Given the description of an element on the screen output the (x, y) to click on. 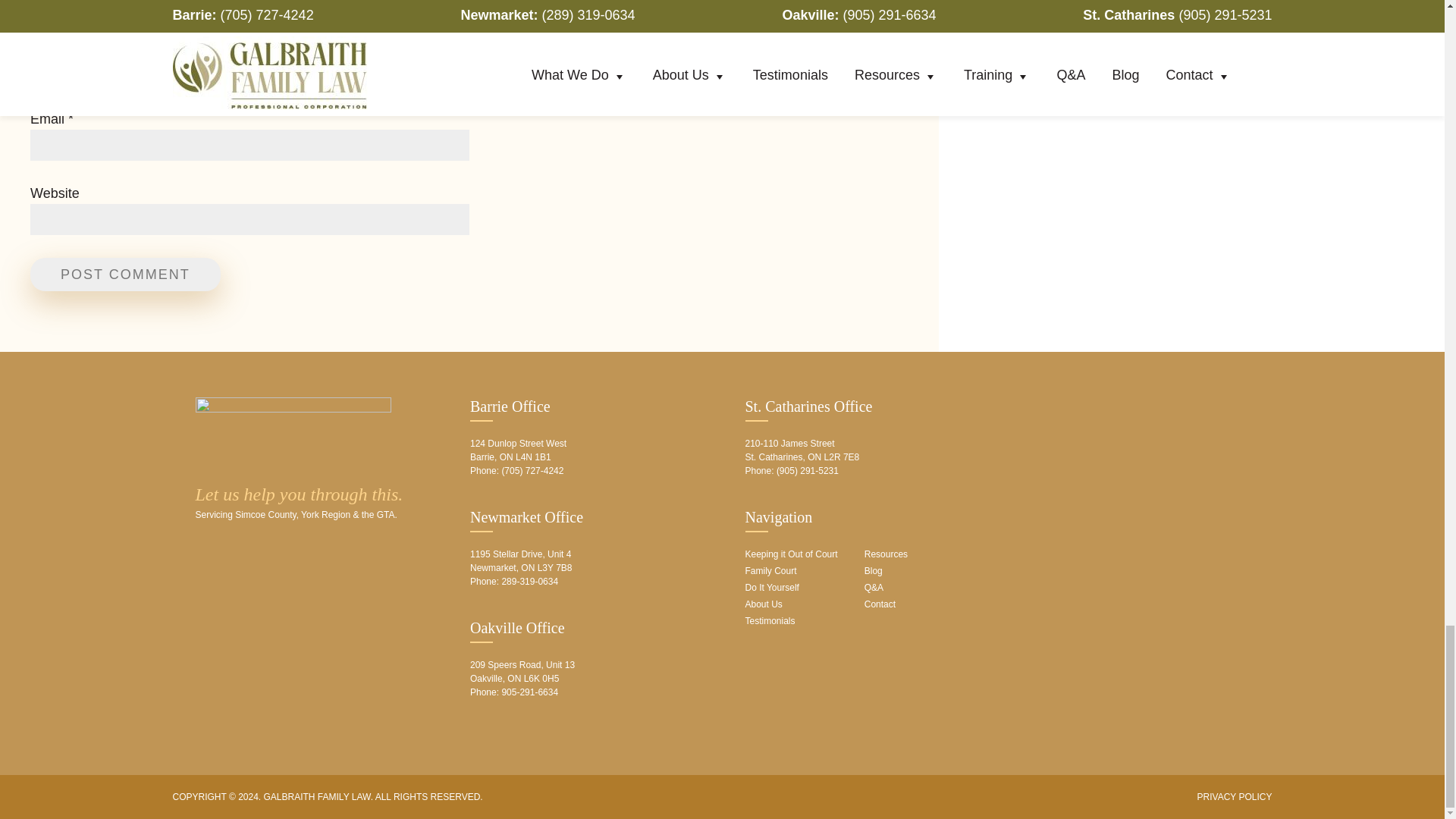
Post Comment (125, 274)
